Given the description of an element on the screen output the (x, y) to click on. 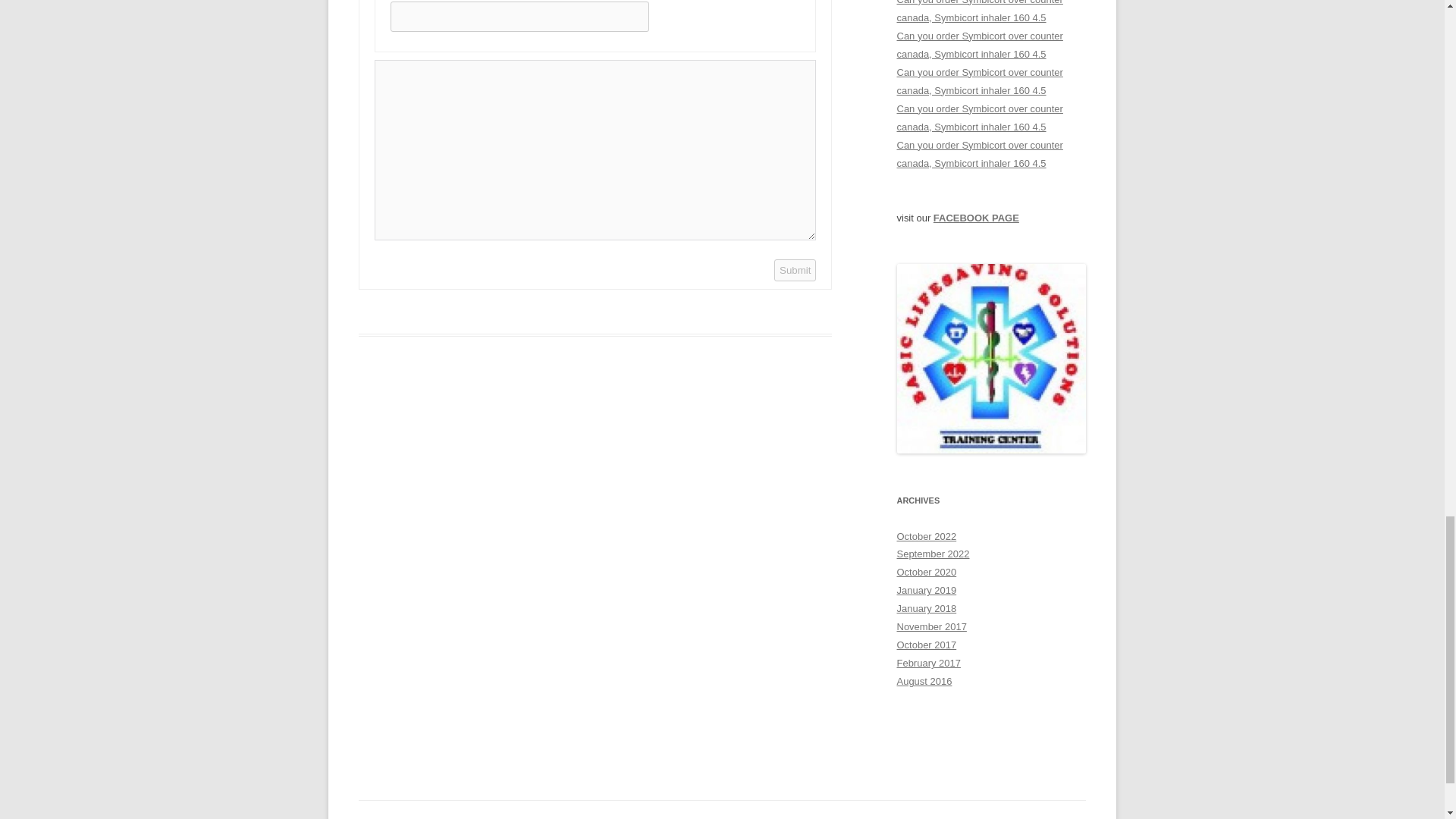
Submit (794, 270)
payday loan (979, 153)
Online poker (979, 117)
